Given the description of an element on the screen output the (x, y) to click on. 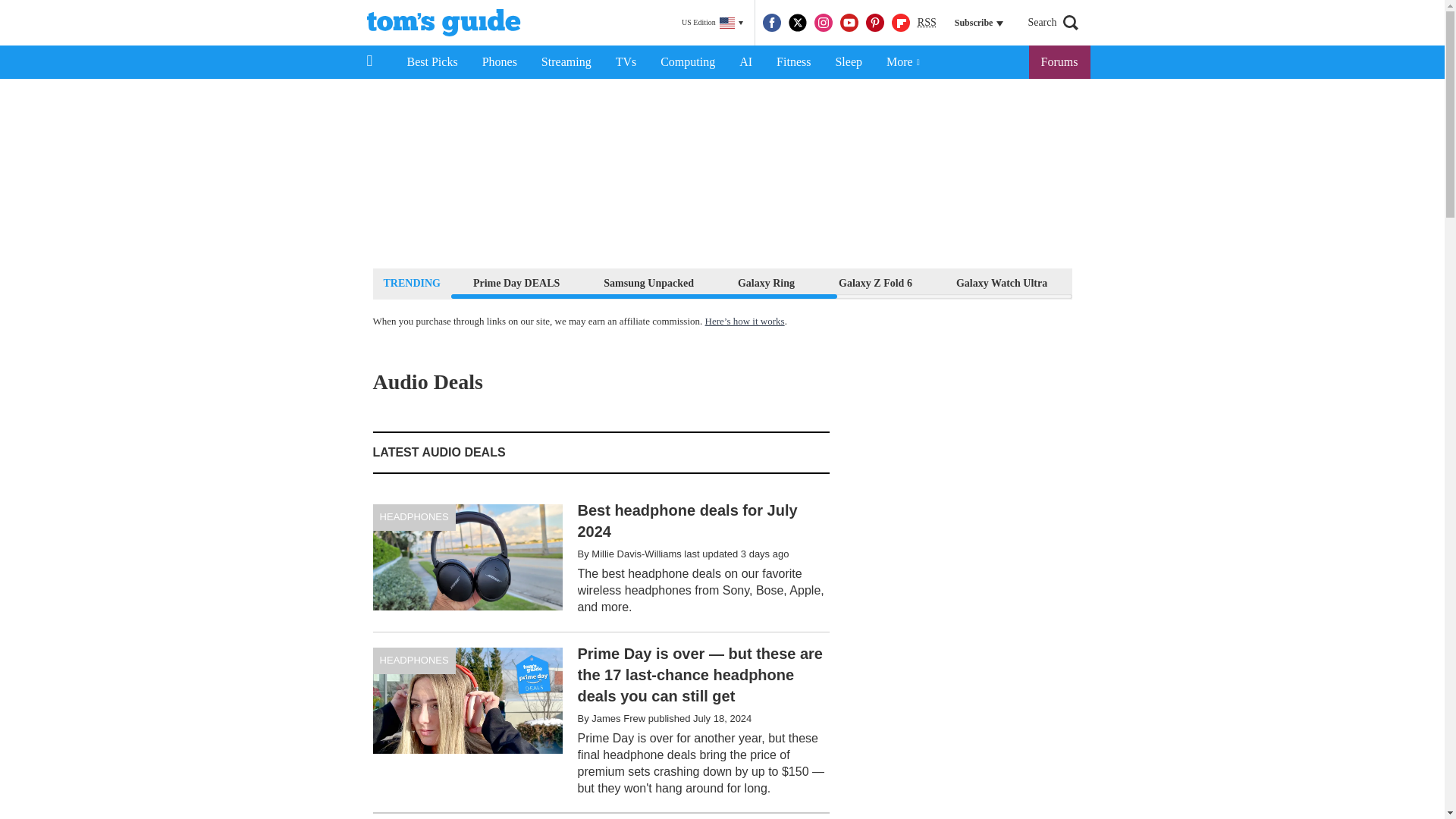
TVs (626, 61)
RSS (926, 22)
US Edition (712, 22)
Computing (686, 61)
Sleep (848, 61)
Fitness (793, 61)
AI (745, 61)
Really Simple Syndication (926, 21)
Phones (499, 61)
Streaming (566, 61)
Best Picks (431, 61)
